Given the description of an element on the screen output the (x, y) to click on. 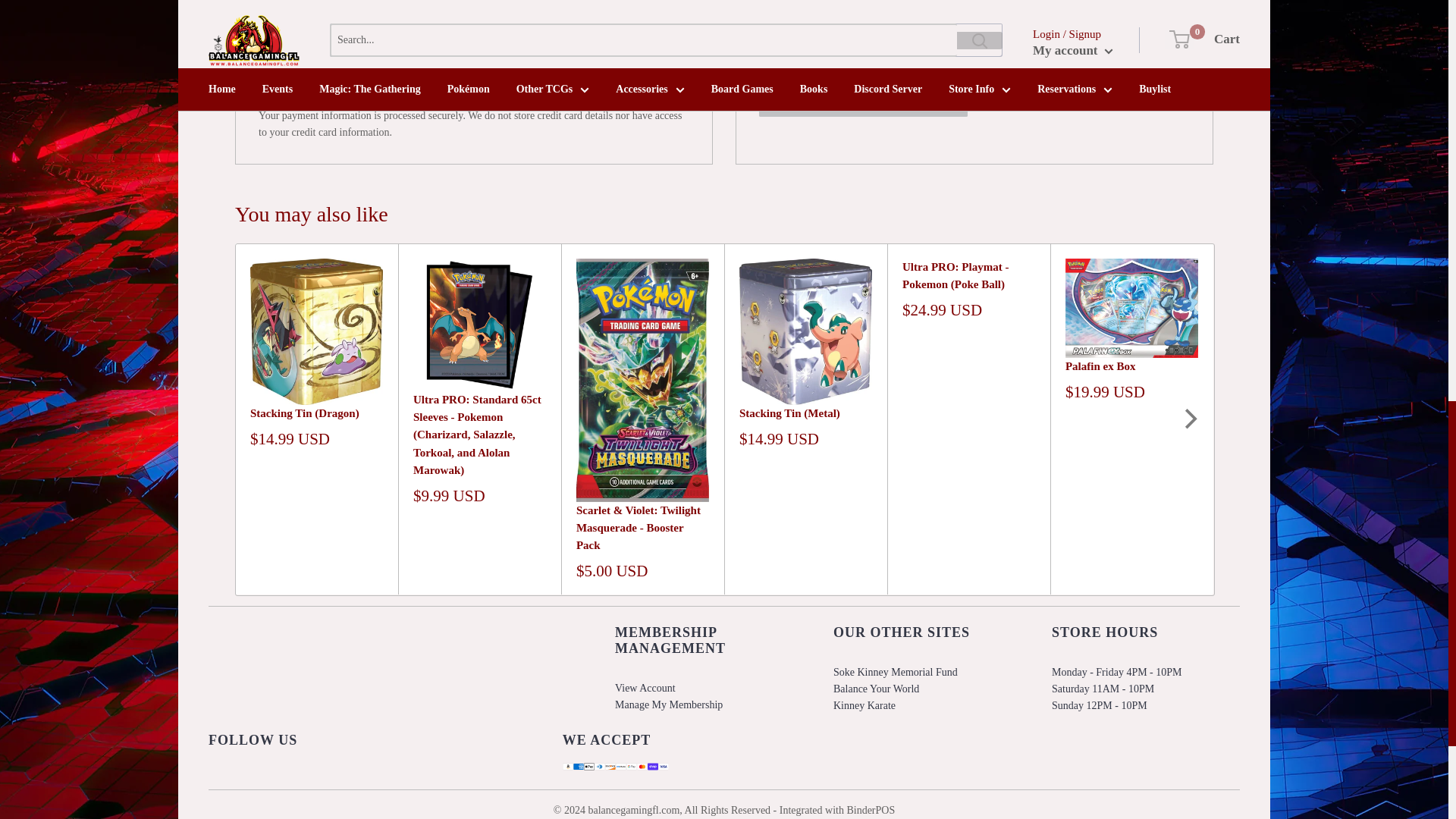
Discover (398, 95)
Meta Pay (429, 95)
American Express (303, 95)
Diners Club (367, 95)
Amazon (272, 95)
Apple Pay (335, 95)
